Given the description of an element on the screen output the (x, y) to click on. 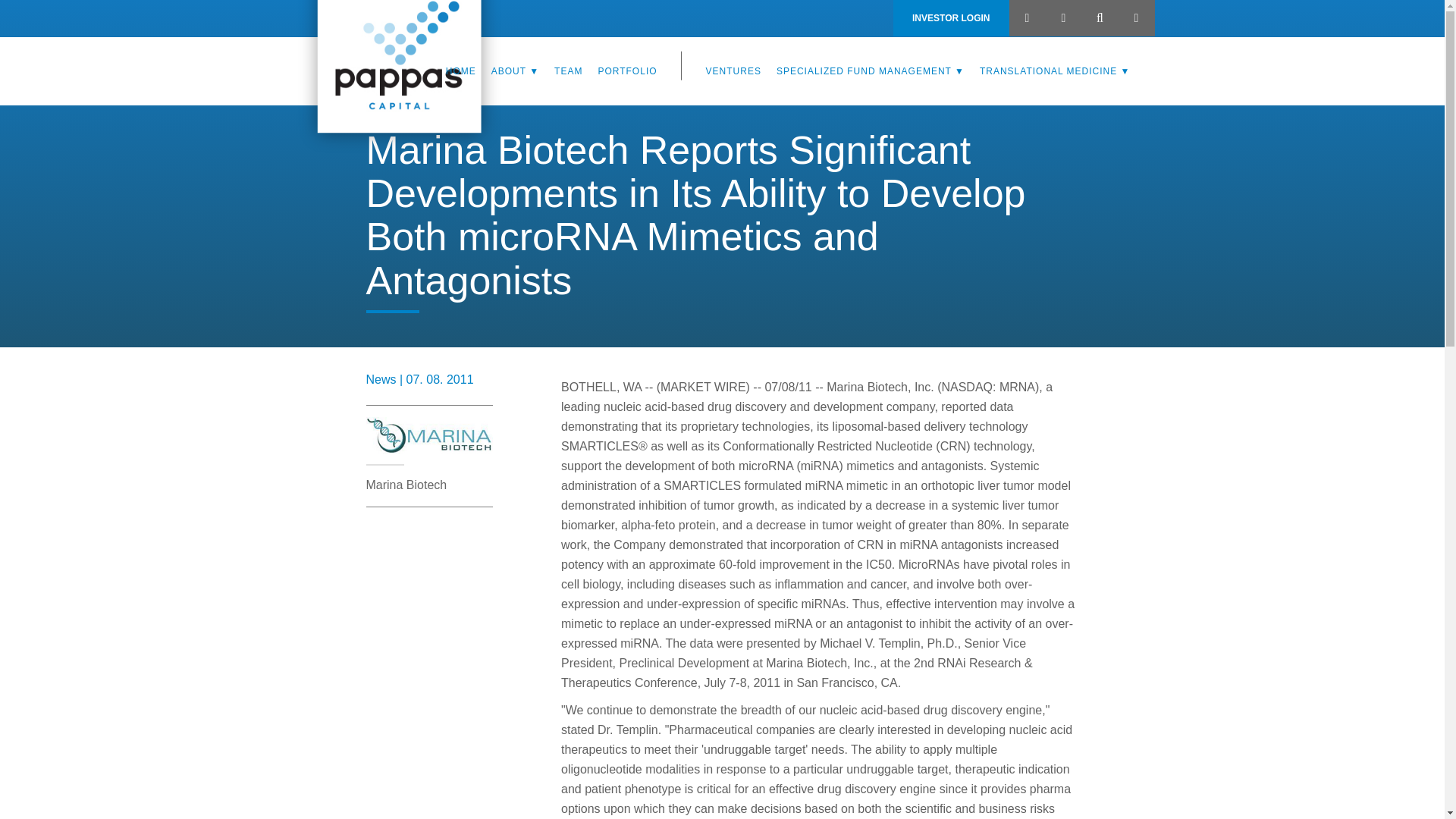
ABOUT (515, 70)
PORTFOLIO (626, 70)
INVESTOR LOGIN (951, 18)
TRANSLATIONAL MEDICINE (1055, 70)
SPECIALIZED FUND MANAGEMENT (870, 70)
VENTURES (733, 70)
